Given the description of an element on the screen output the (x, y) to click on. 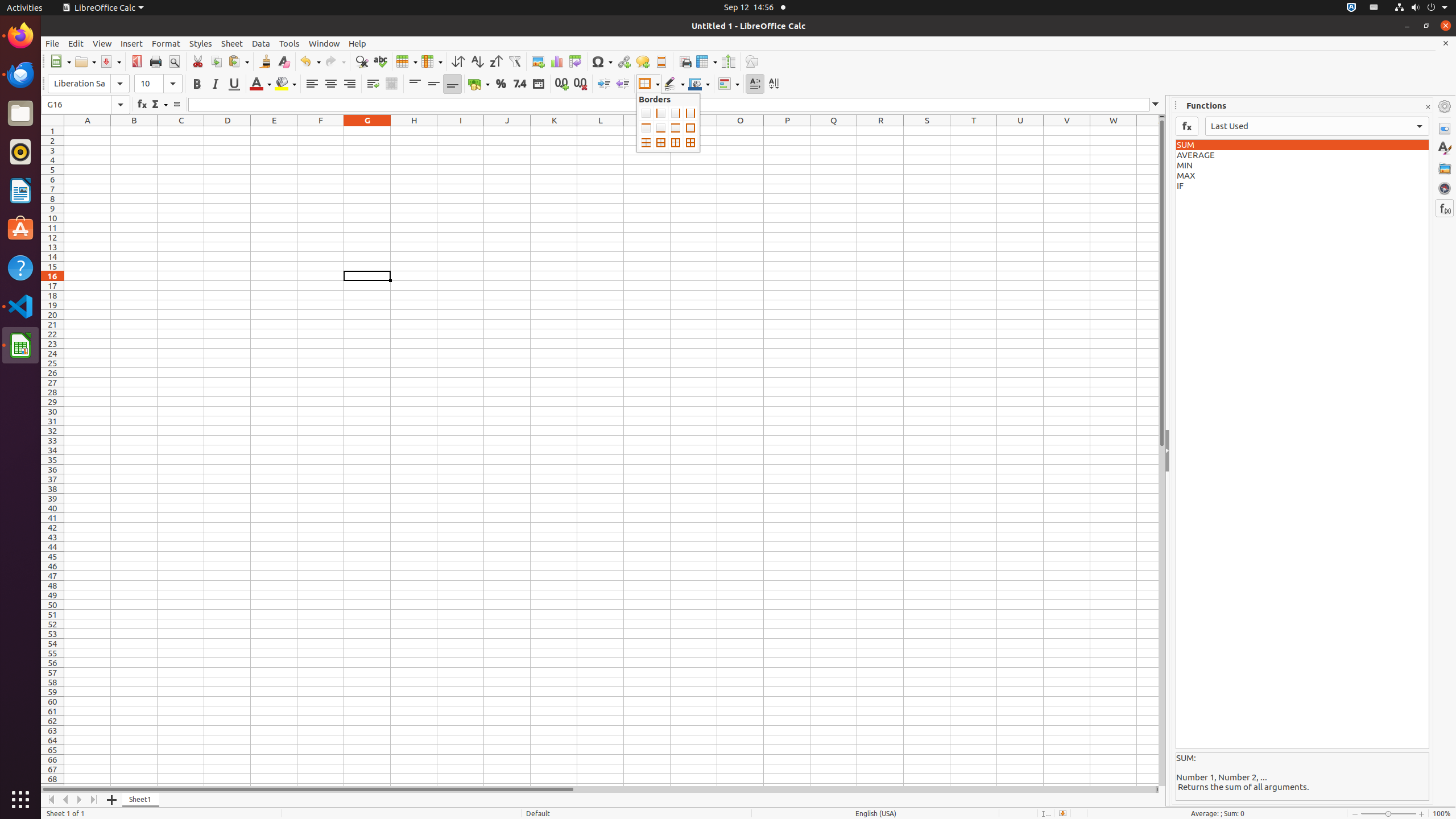
M1 Element type: table-cell (646, 130)
Rhythmbox Element type: push-button (20, 151)
Currency Element type: push-button (478, 83)
Move To End Element type: push-button (94, 799)
Vertical scroll bar Element type: scroll-bar (1161, 451)
